Given the description of an element on the screen output the (x, y) to click on. 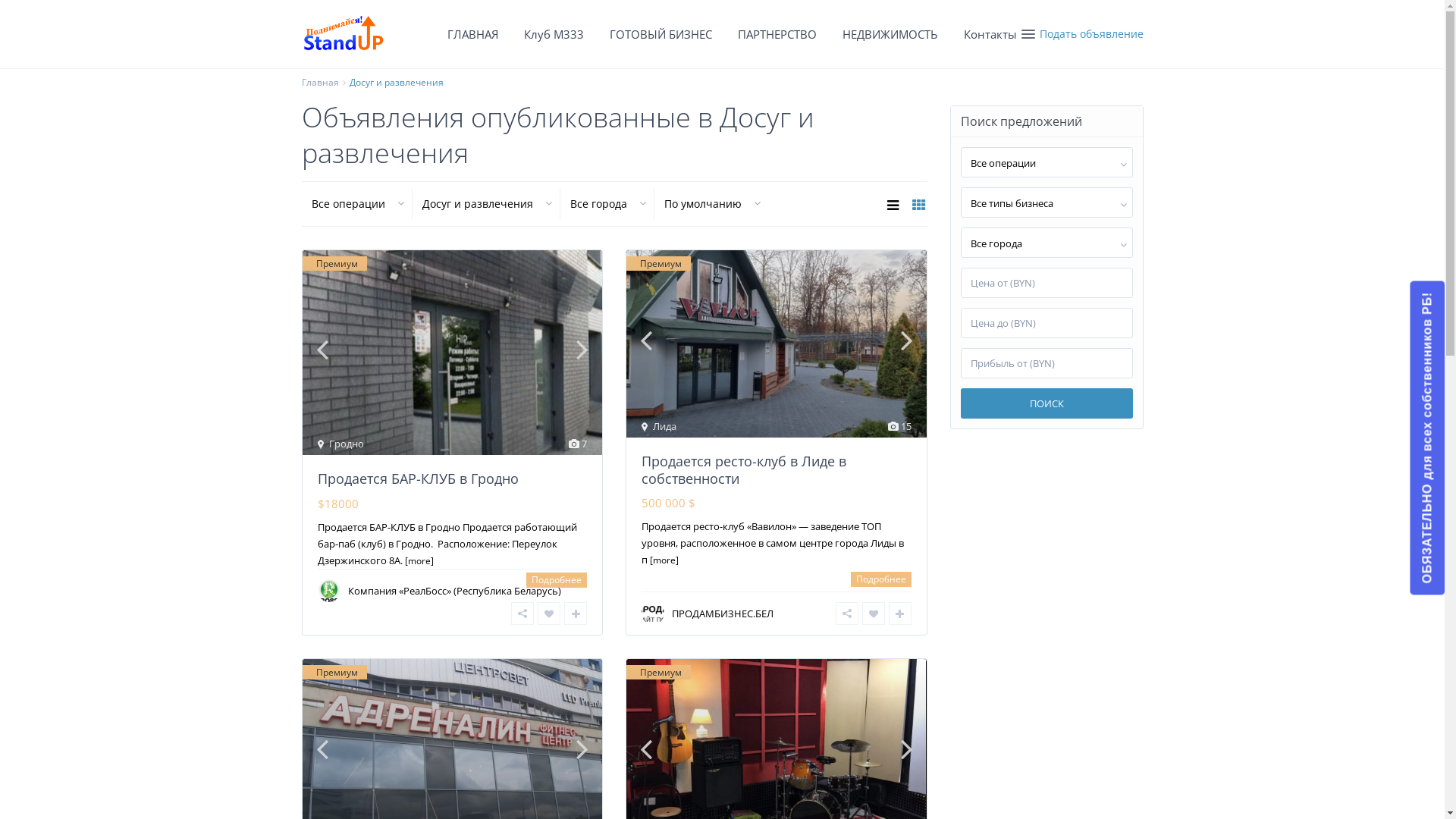
[more] Element type: text (418, 560)
[more] Element type: text (663, 559)
